Given the description of an element on the screen output the (x, y) to click on. 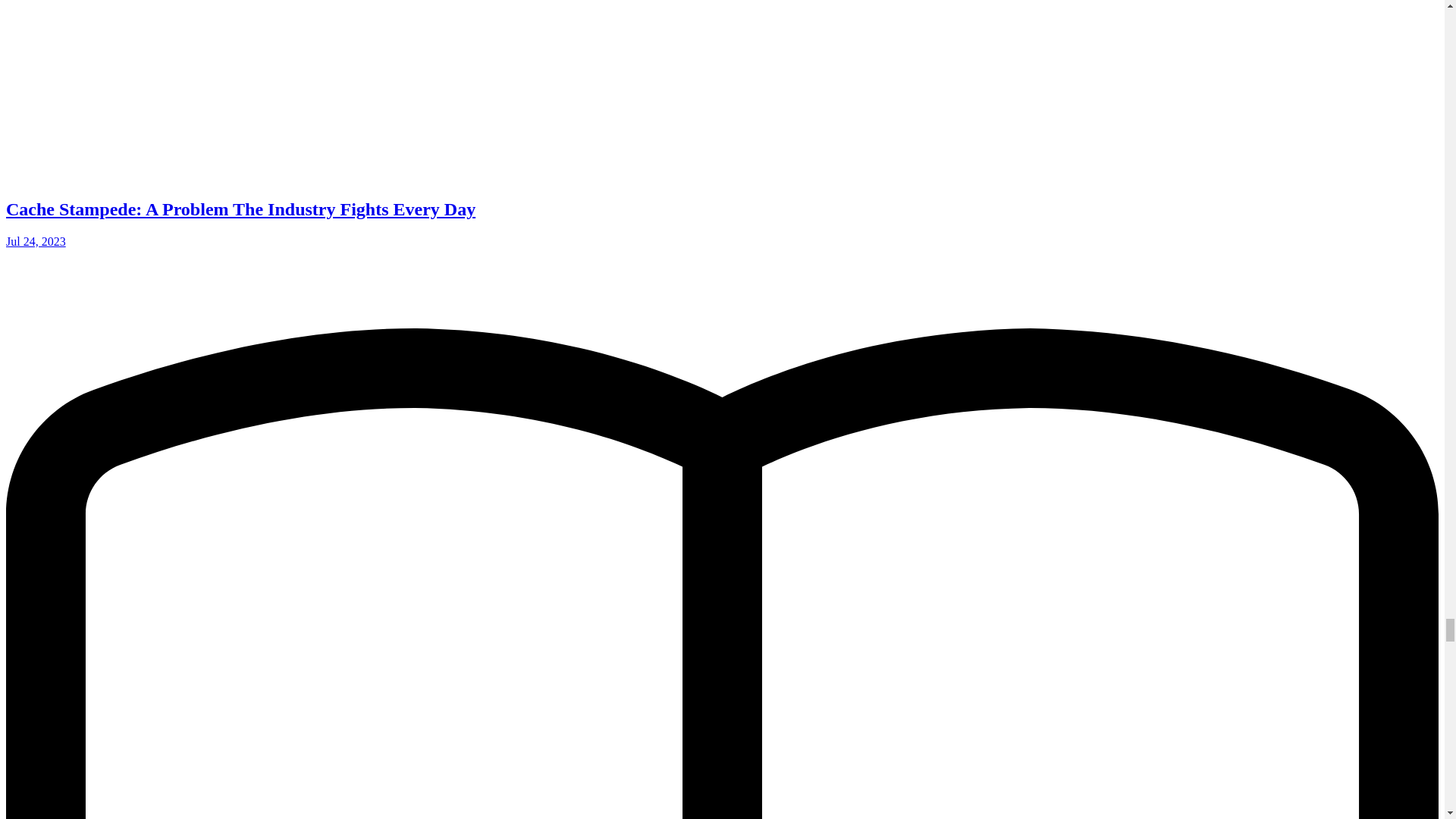
Cache Stampede: A Problem The Industry Fights Every Day (240, 209)
